Given the description of an element on the screen output the (x, y) to click on. 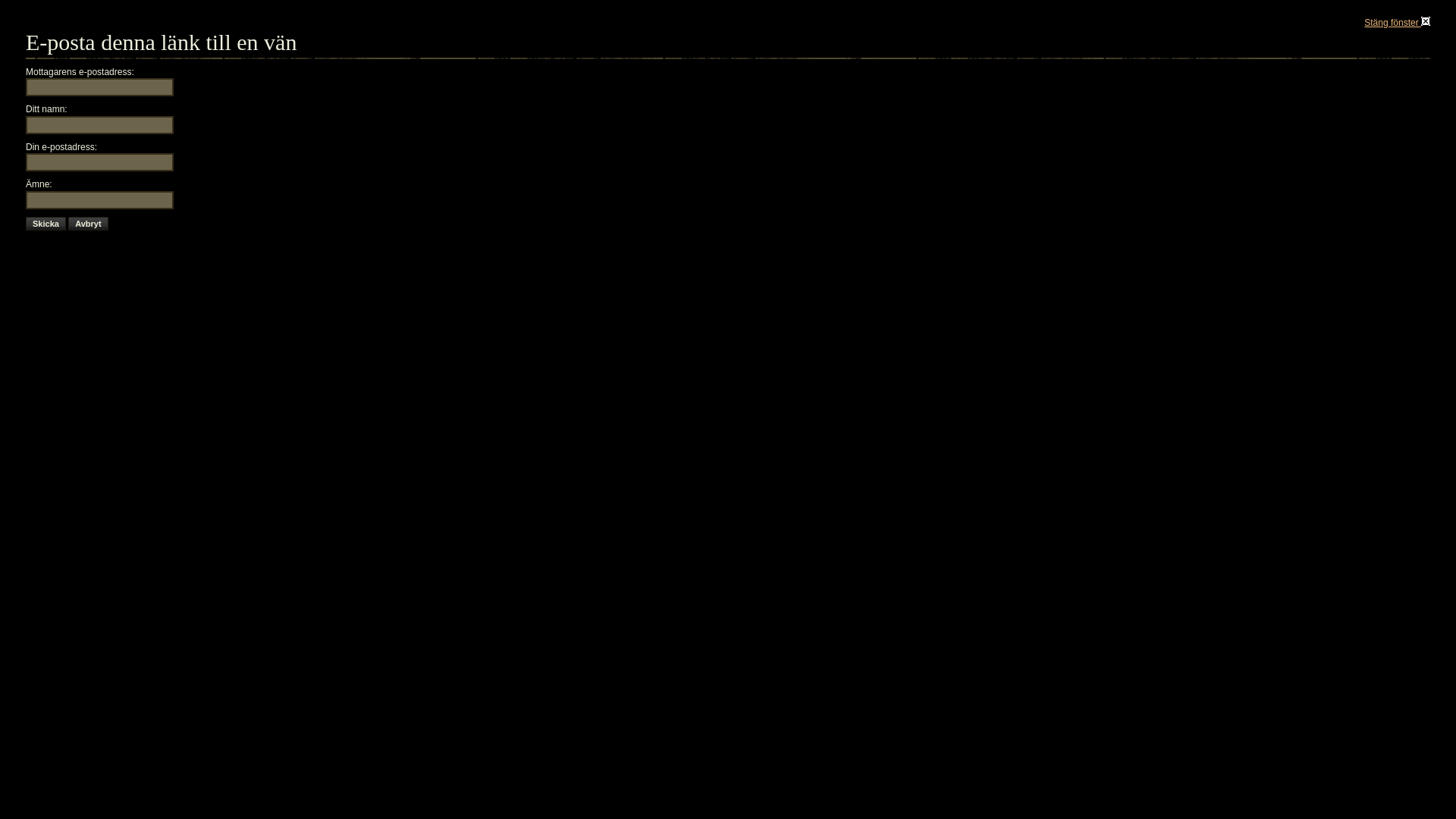
Skicka Element type: text (45, 223)
Avbryt Element type: text (87, 223)
